Given the description of an element on the screen output the (x, y) to click on. 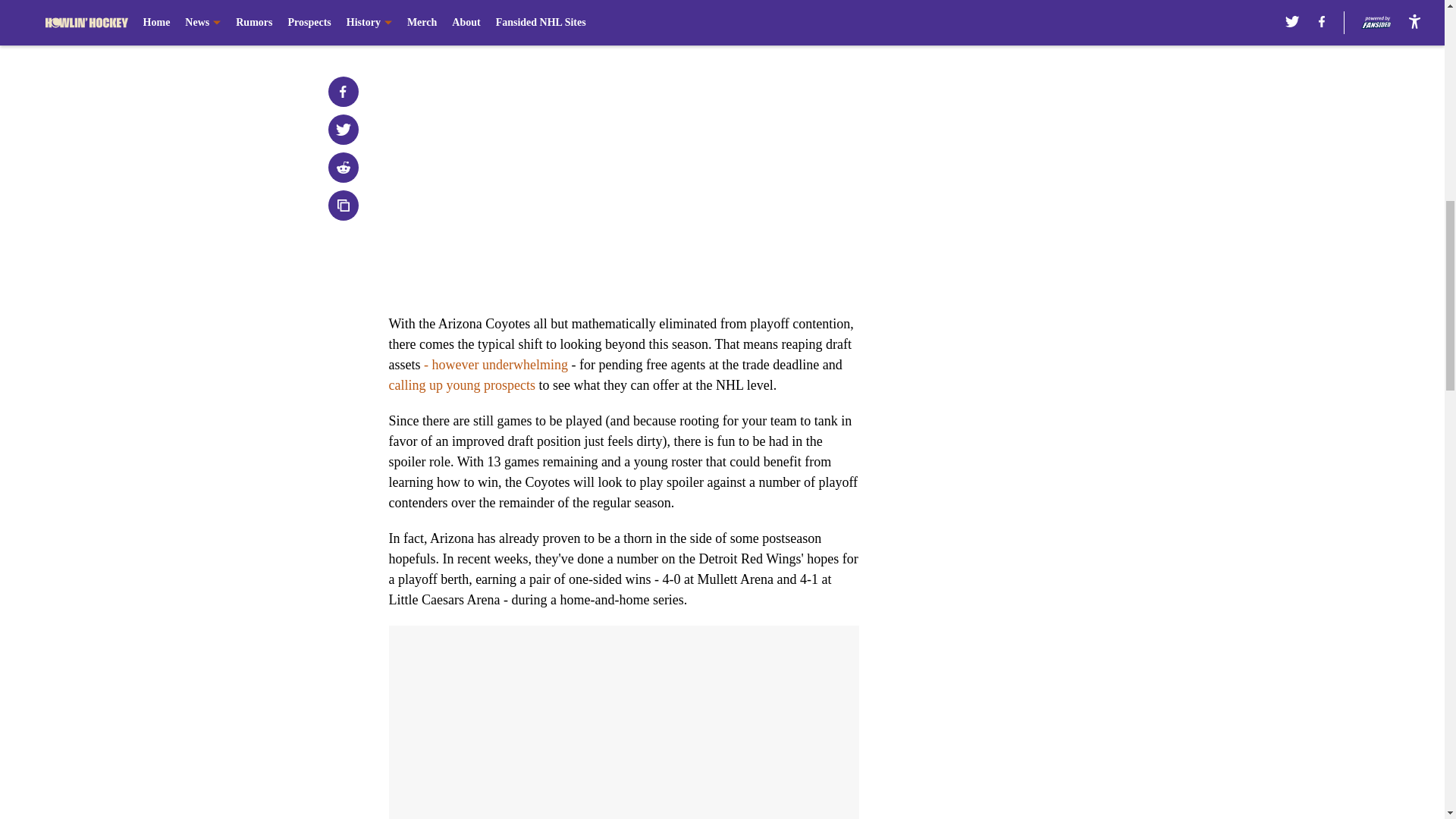
calling up young prospects (461, 385)
- however underwhelming (495, 364)
